Given the description of an element on the screen output the (x, y) to click on. 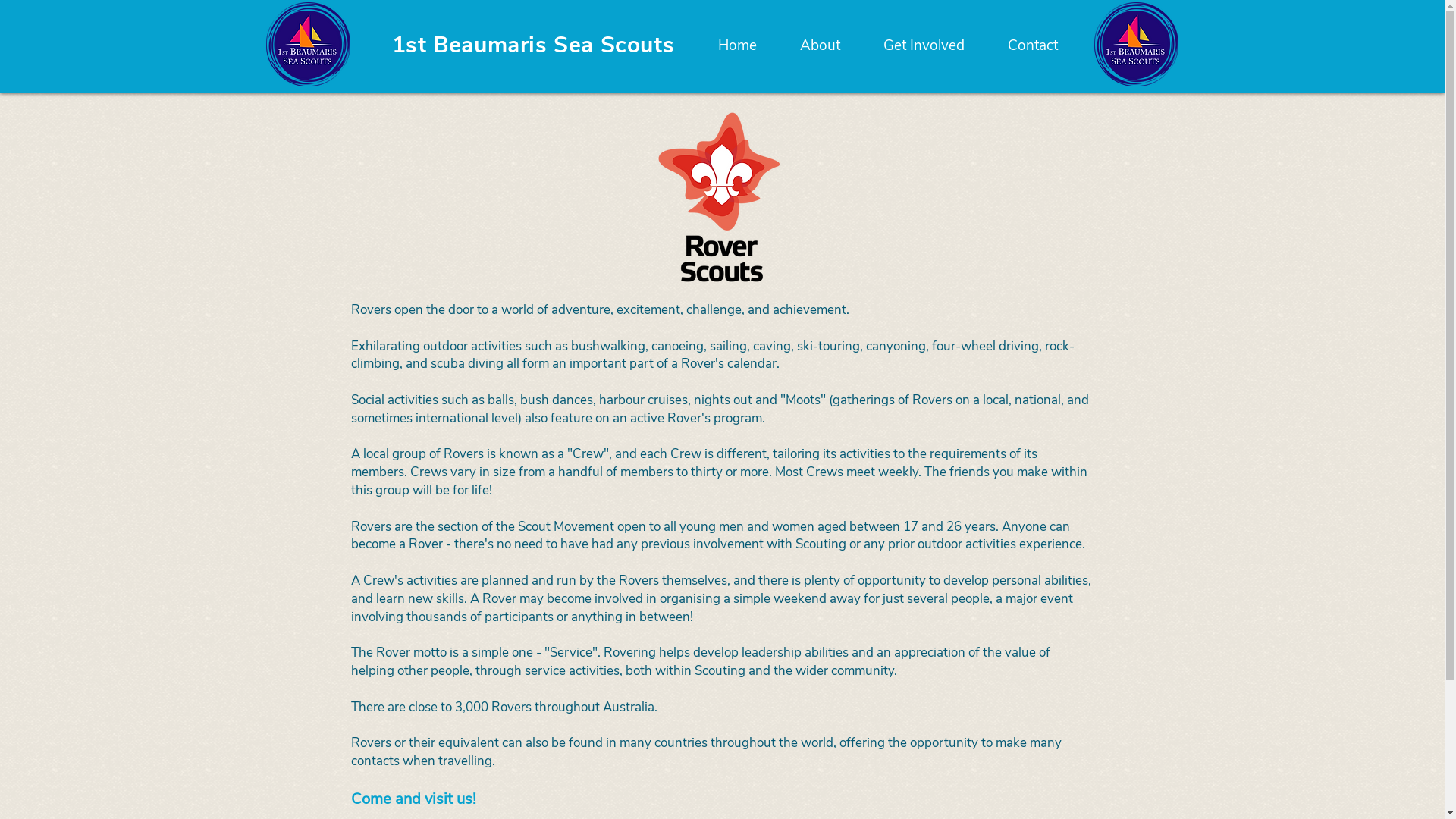
1st Beaumaris Sea Scouts Element type: text (533, 44)
Contact Element type: text (1031, 45)
About Element type: text (819, 45)
Home Element type: text (737, 45)
